Given the description of an element on the screen output the (x, y) to click on. 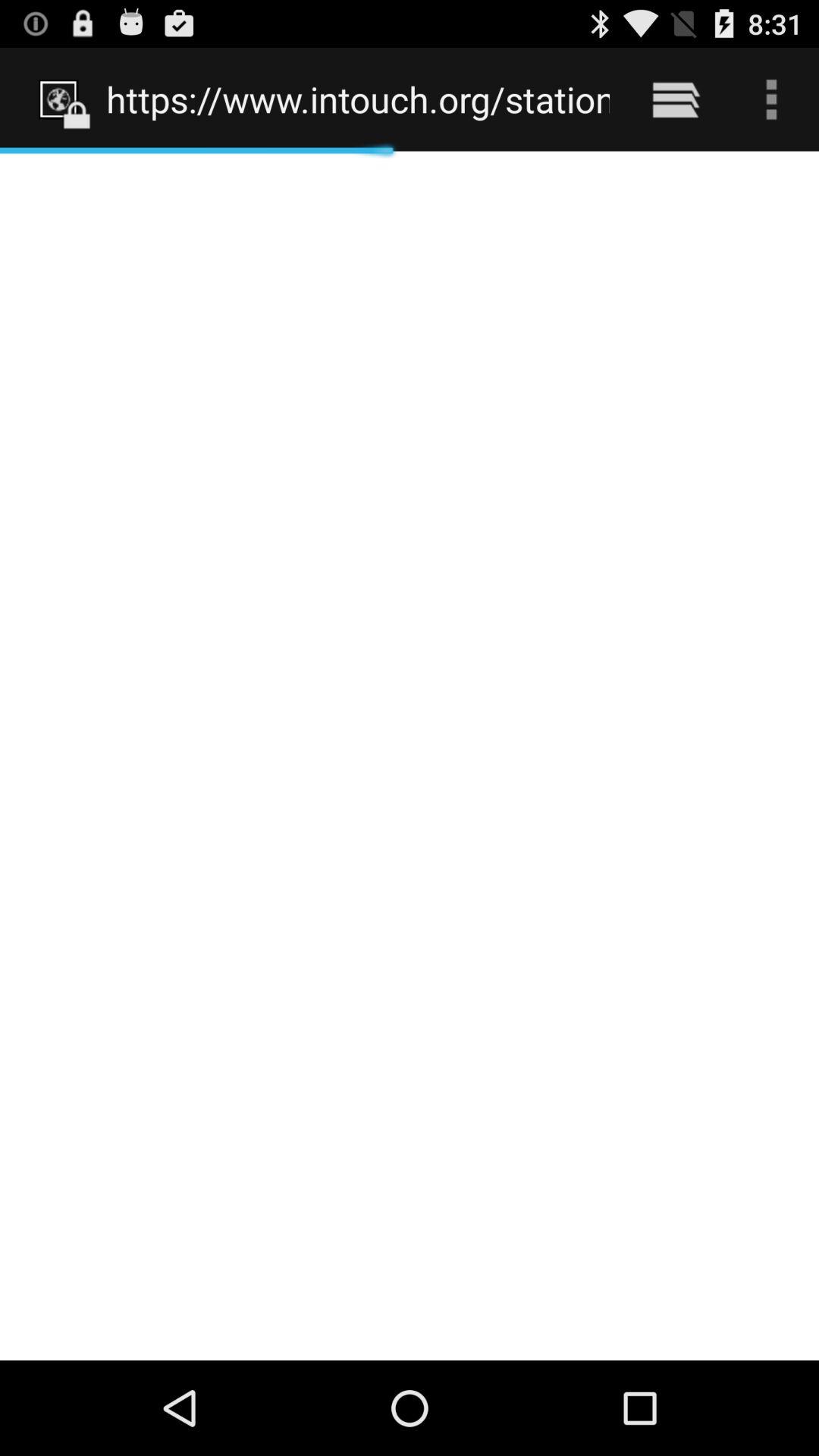
turn on the item to the right of https www intouch icon (675, 99)
